Given the description of an element on the screen output the (x, y) to click on. 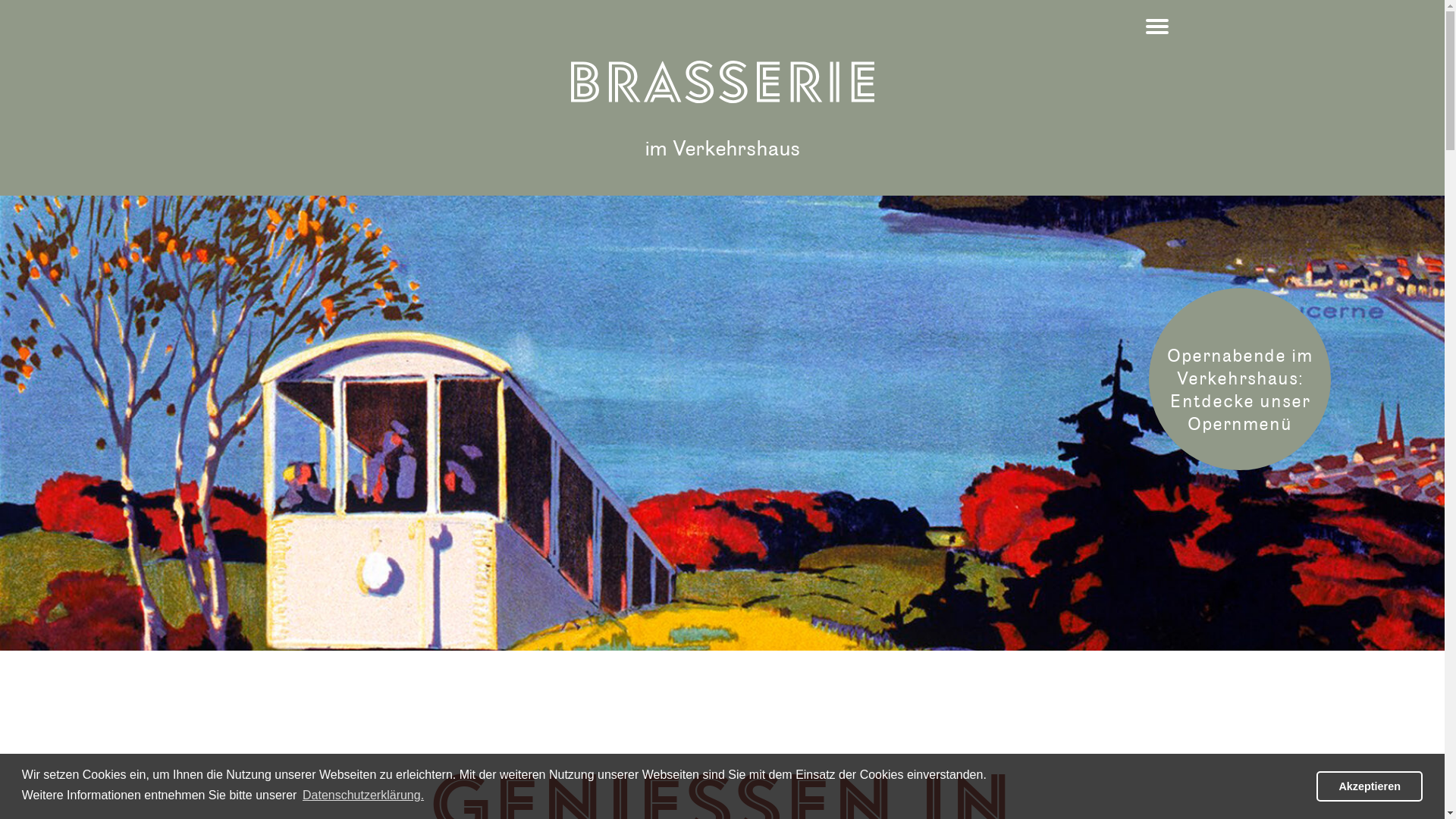
Akzeptieren Element type: text (1369, 786)
on Element type: text (4, 4)
